Given the description of an element on the screen output the (x, y) to click on. 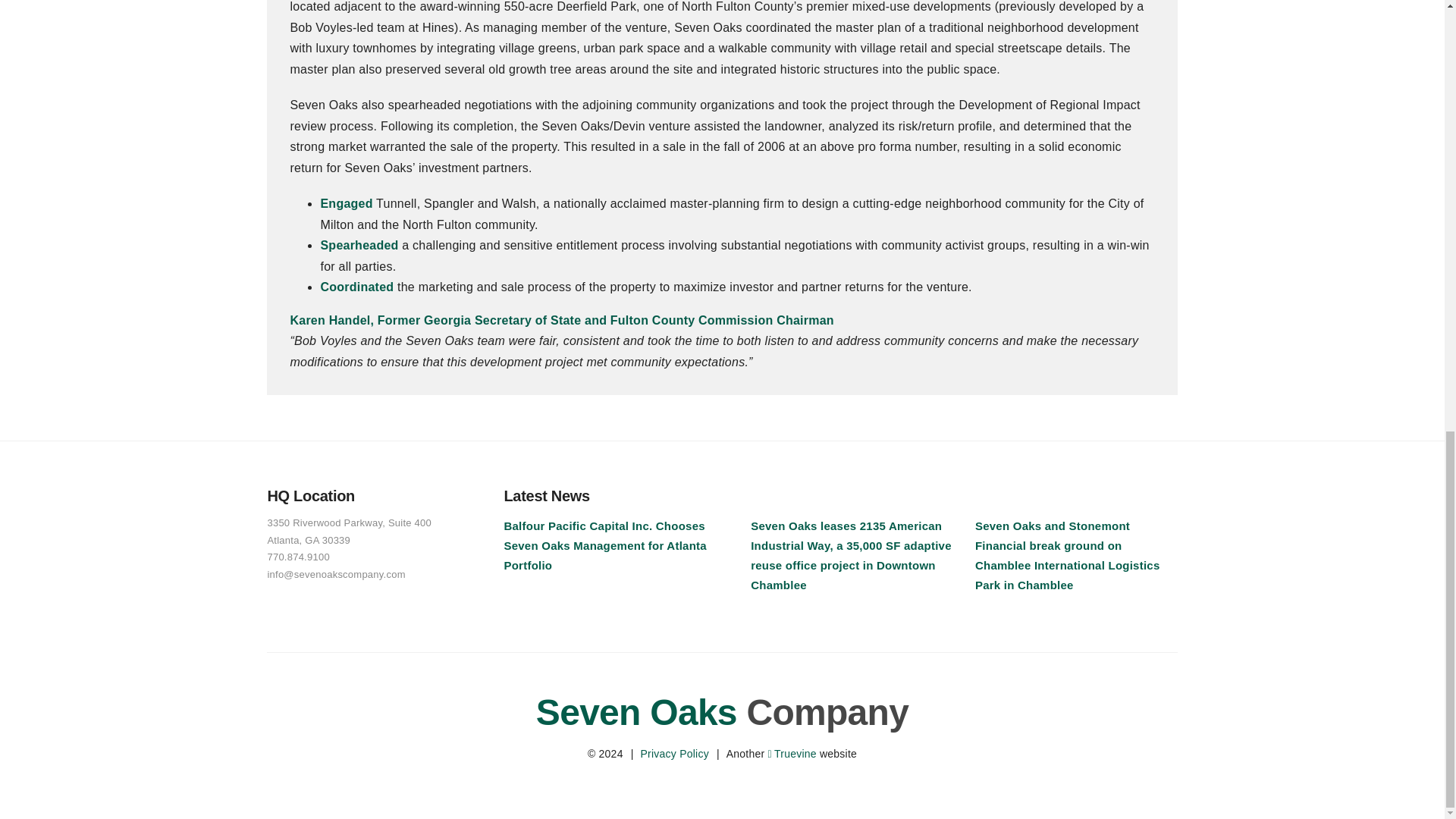
Privacy Policy (674, 753)
Truevine (792, 753)
Seven Oaks Company (721, 712)
